Given the description of an element on the screen output the (x, y) to click on. 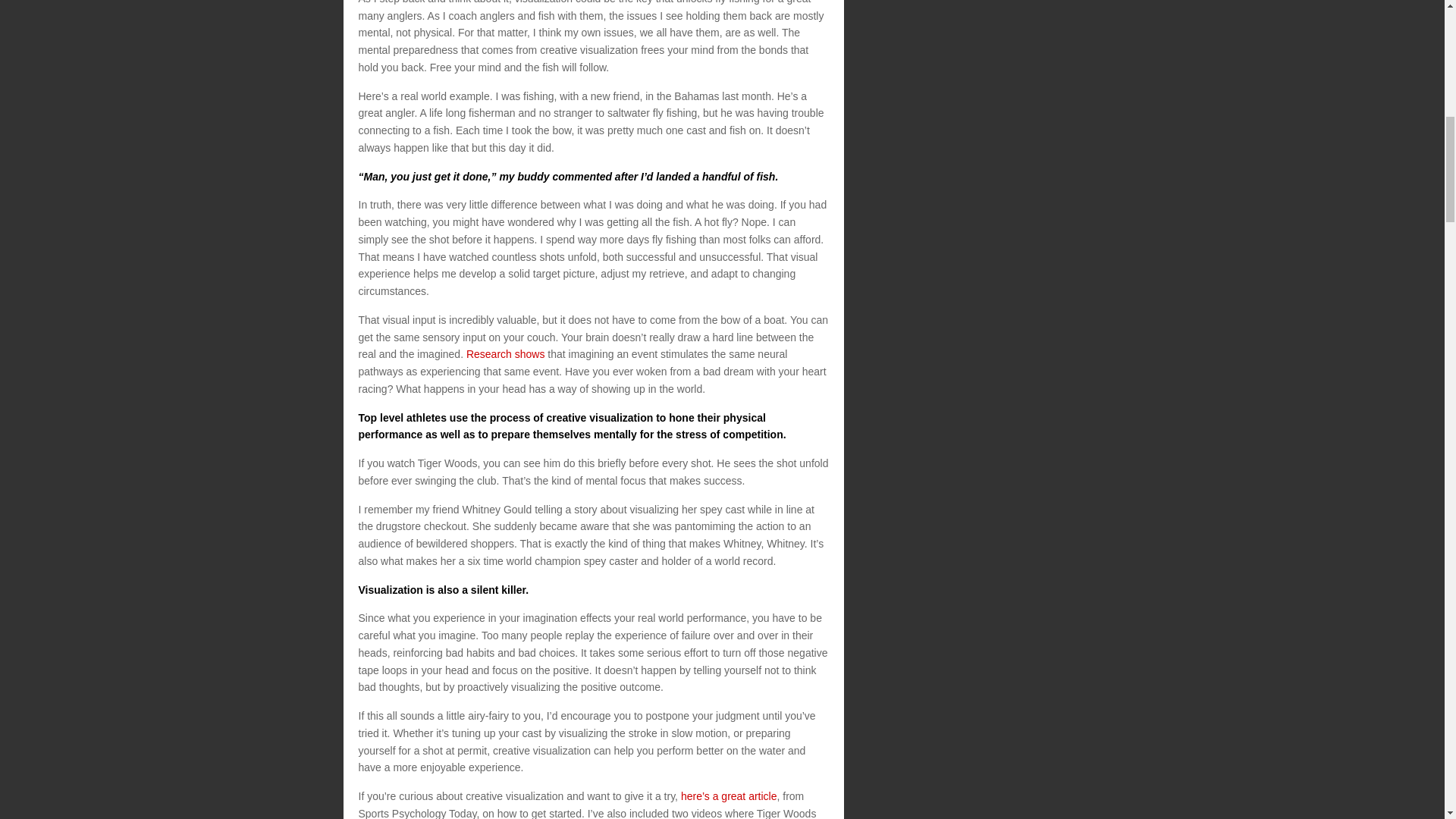
Research shows (504, 354)
